Given the description of an element on the screen output the (x, y) to click on. 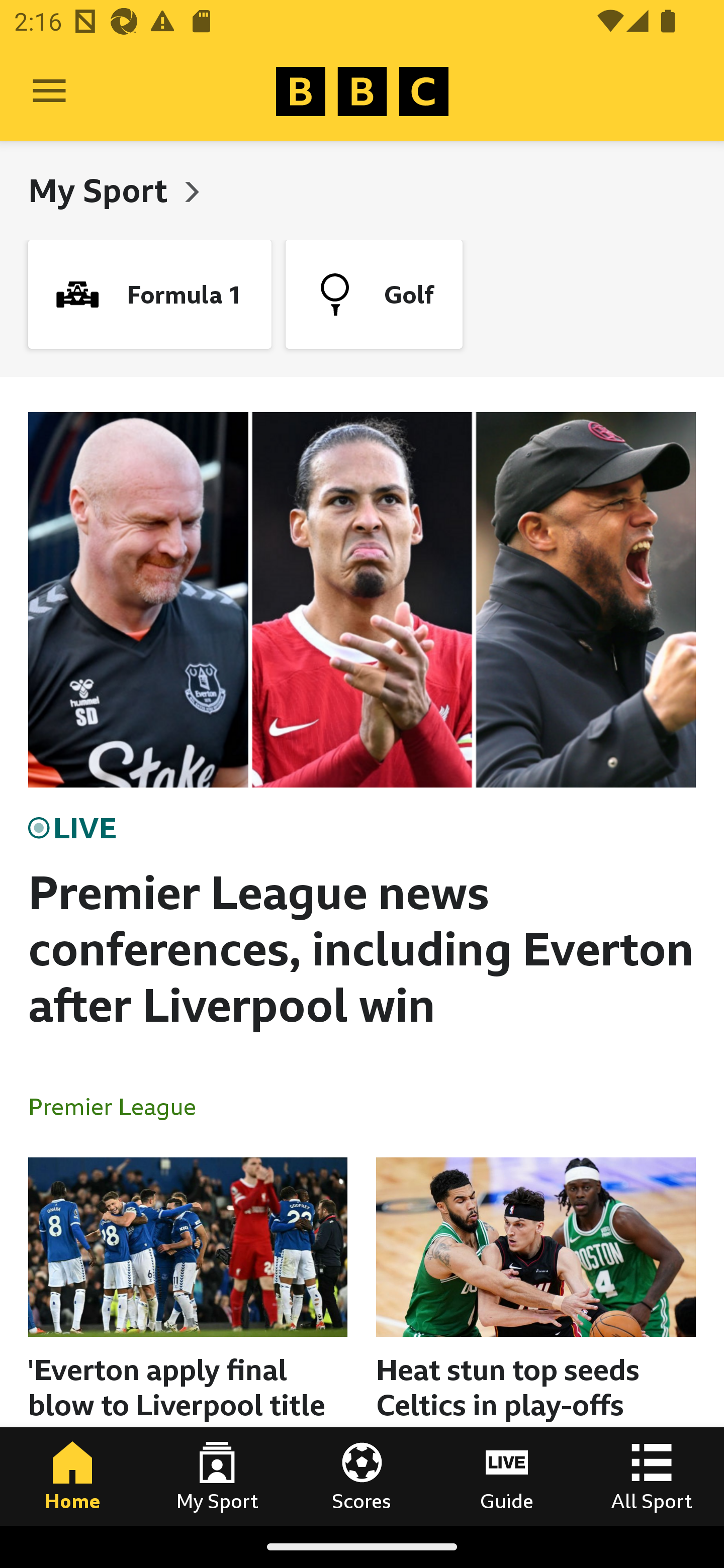
Open Menu (49, 91)
My Sport (101, 190)
Premier League In the section Premier League (119, 1106)
My Sport (216, 1475)
Scores (361, 1475)
Guide (506, 1475)
All Sport (651, 1475)
